Given the description of an element on the screen output the (x, y) to click on. 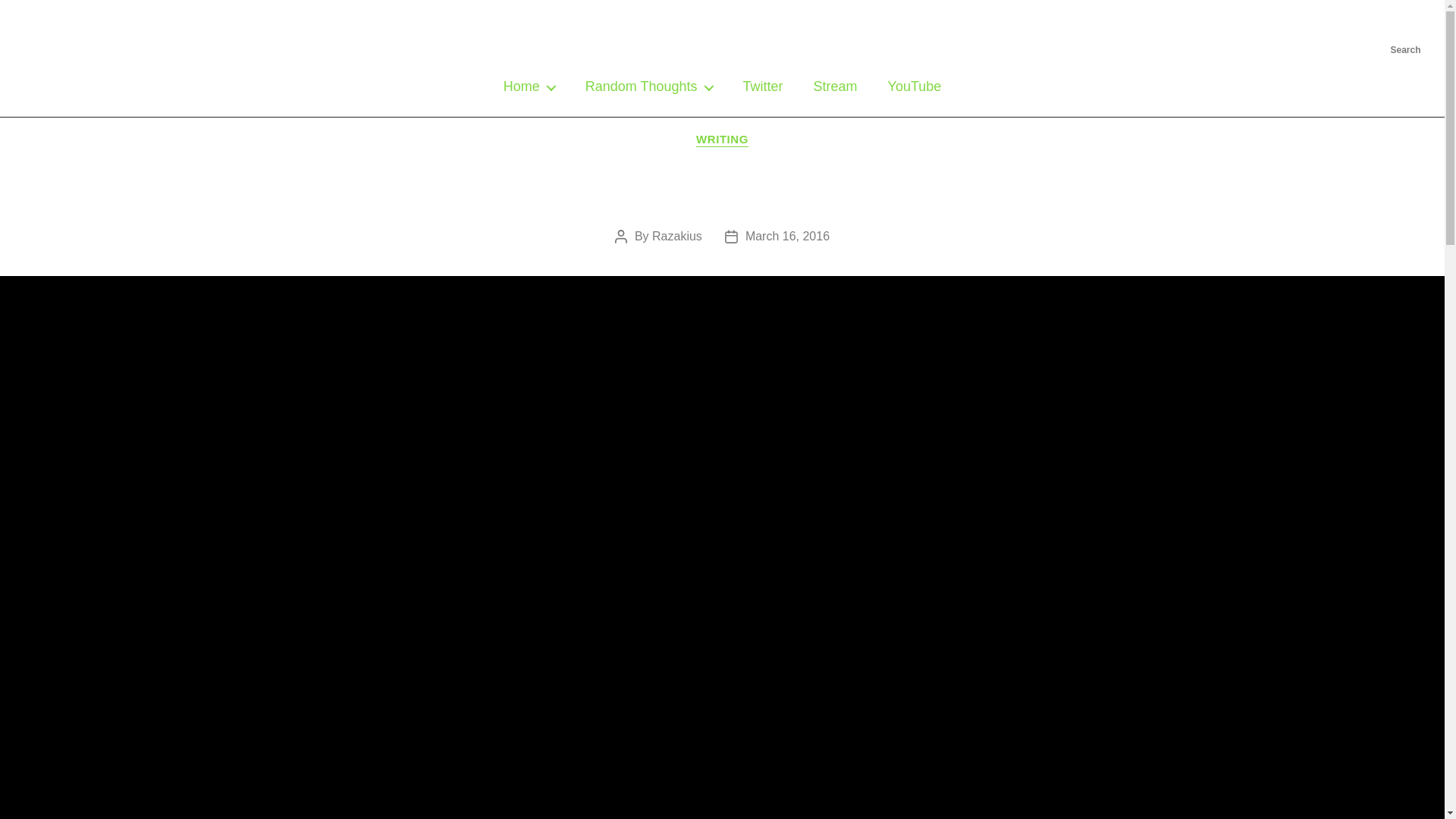
Random Thoughts (649, 86)
Home (528, 86)
Razaki.us (722, 41)
YouTube (915, 86)
WRITING (721, 140)
Stream (835, 86)
Twitter (762, 86)
Search (1405, 29)
